Given the description of an element on the screen output the (x, y) to click on. 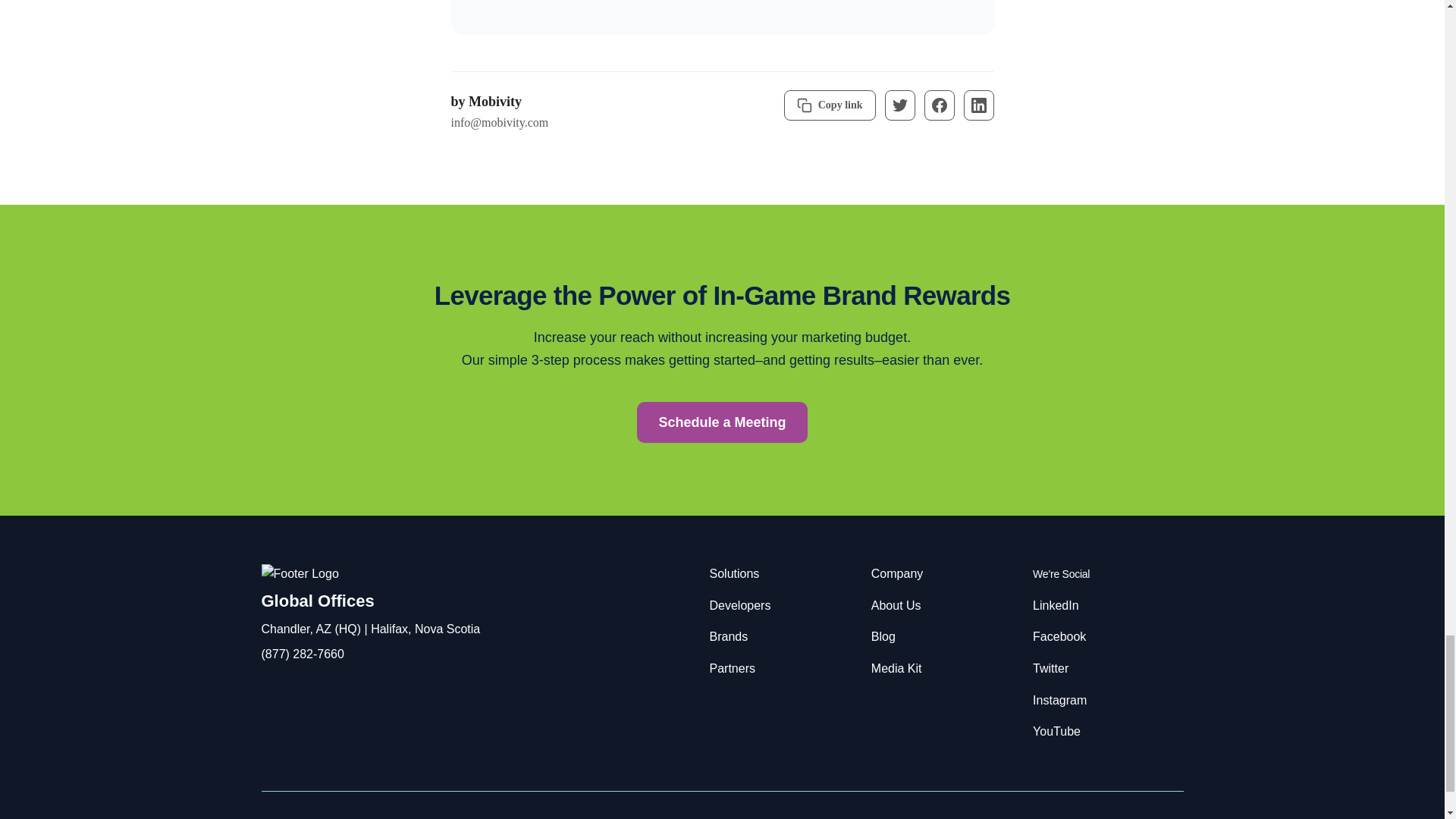
Mobivity (494, 101)
Brands (729, 635)
Solutions (735, 573)
Developers (740, 604)
Copy link (830, 105)
Footer Logo (298, 574)
Schedule a Meeting (721, 422)
